Given the description of an element on the screen output the (x, y) to click on. 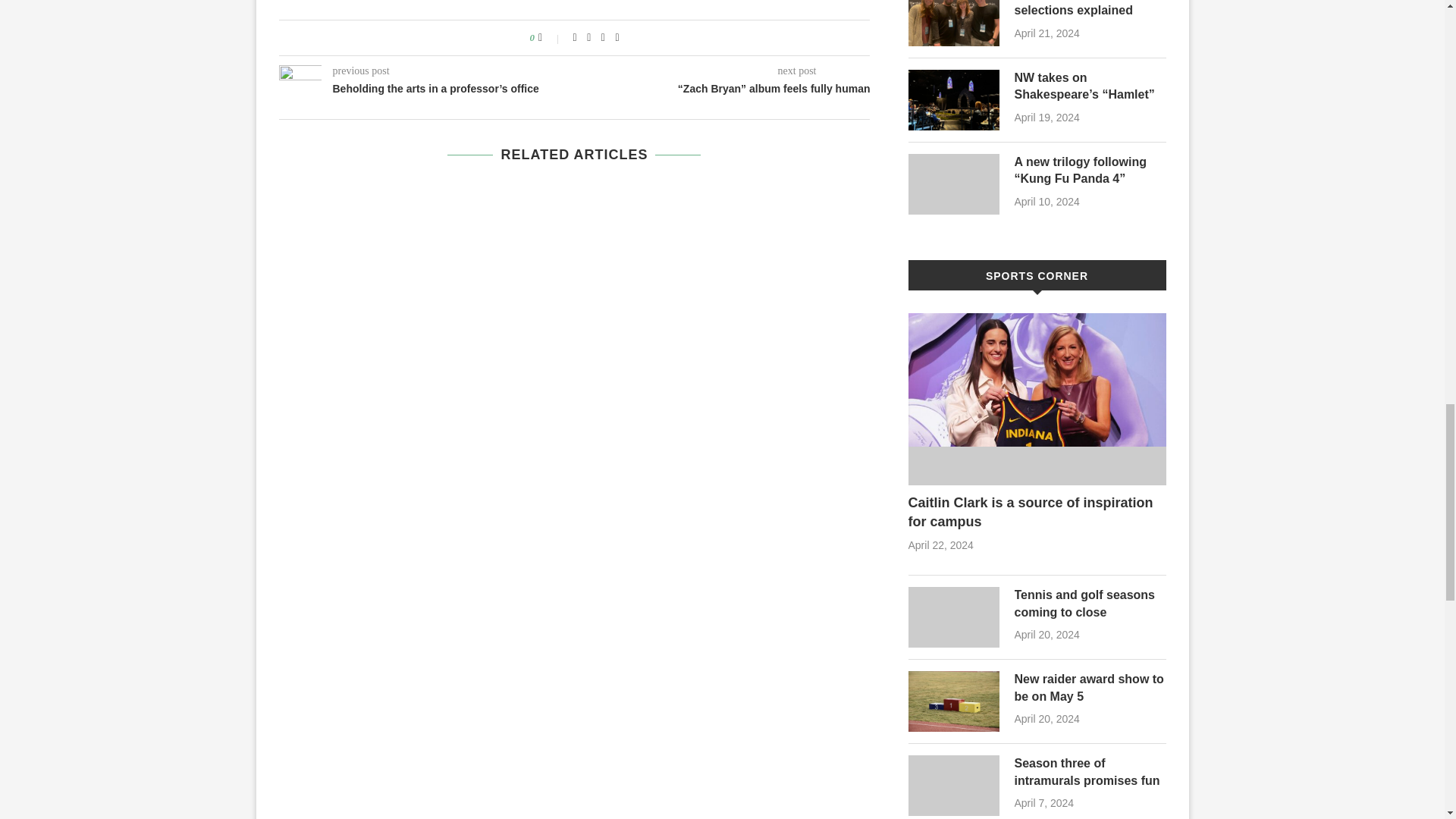
Like (550, 37)
